Given the description of an element on the screen output the (x, y) to click on. 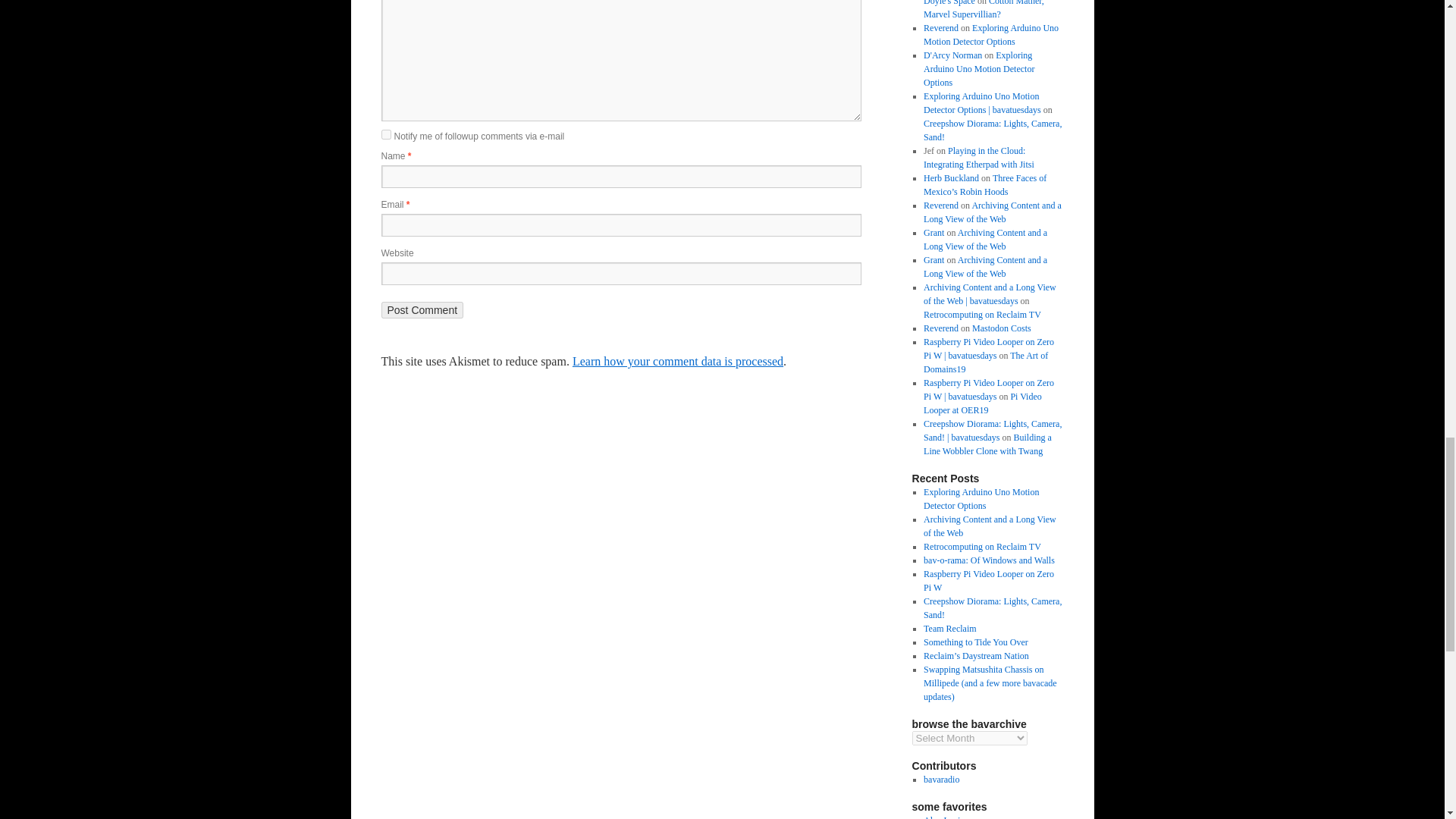
subscribe (385, 134)
Post Comment (421, 310)
bava on the radio (941, 778)
